Given the description of an element on the screen output the (x, y) to click on. 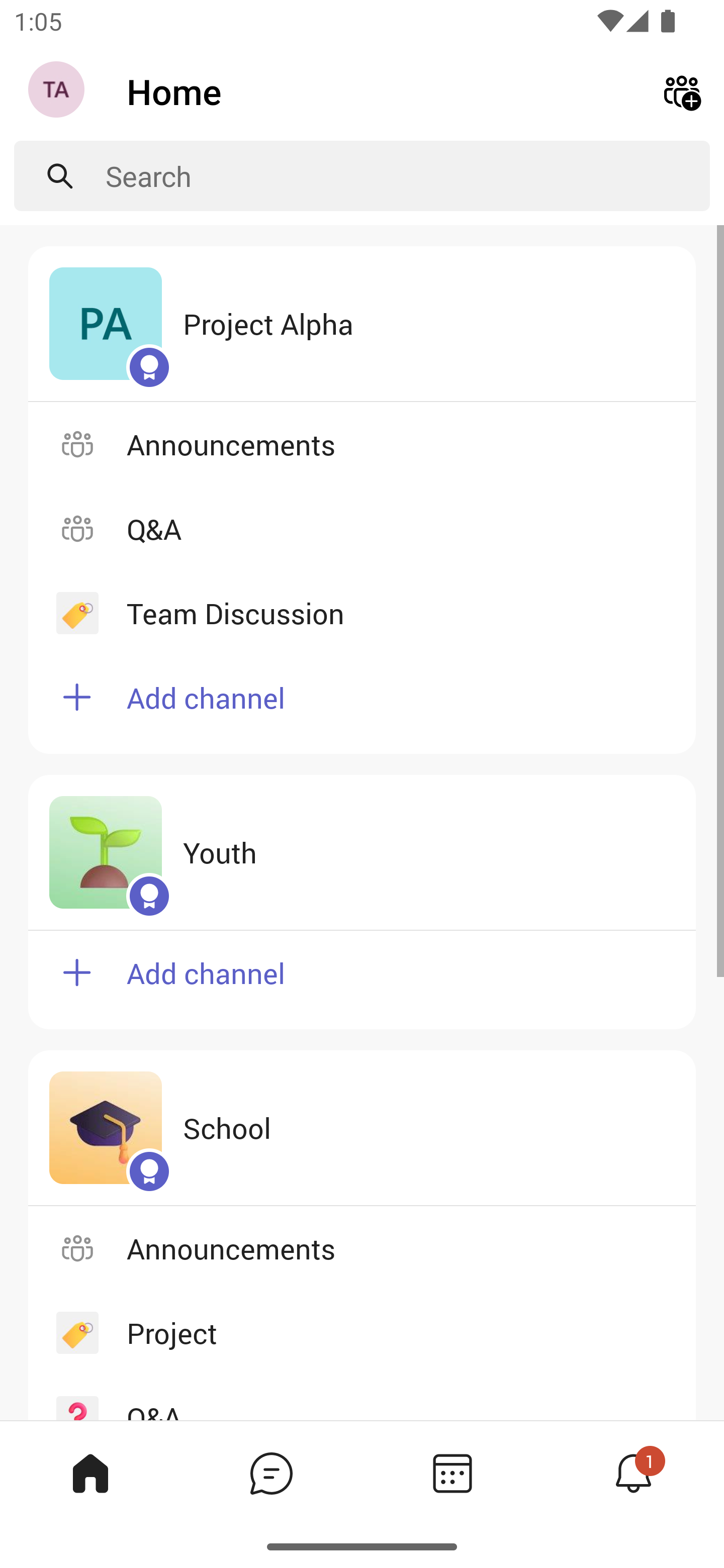
Create new community (681, 90)
Navigation (58, 91)
Search (407, 176)
Project Alpha Community. Project Alpha (361, 323)
Announcements Channel. Announcements (361, 443)
Q&A Channel. Q&A (361, 528)
Team Discussion Channel. Team Discussion (361, 612)
Youth Community. Youth (361, 852)
Add a new channel to Youth community Add channel (361, 979)
School Community. School (361, 1127)
Announcements Channel. Announcements (361, 1247)
Project Channel. Project (361, 1332)
Home tab, 1 of 4 (90, 1472)
Chat tab,2 of 4, not selected (271, 1472)
Calendar tab,3 of 4, not selected (452, 1472)
Activity tab,4 of 4, not selected, 1 new 1 (633, 1472)
